Given the description of an element on the screen output the (x, y) to click on. 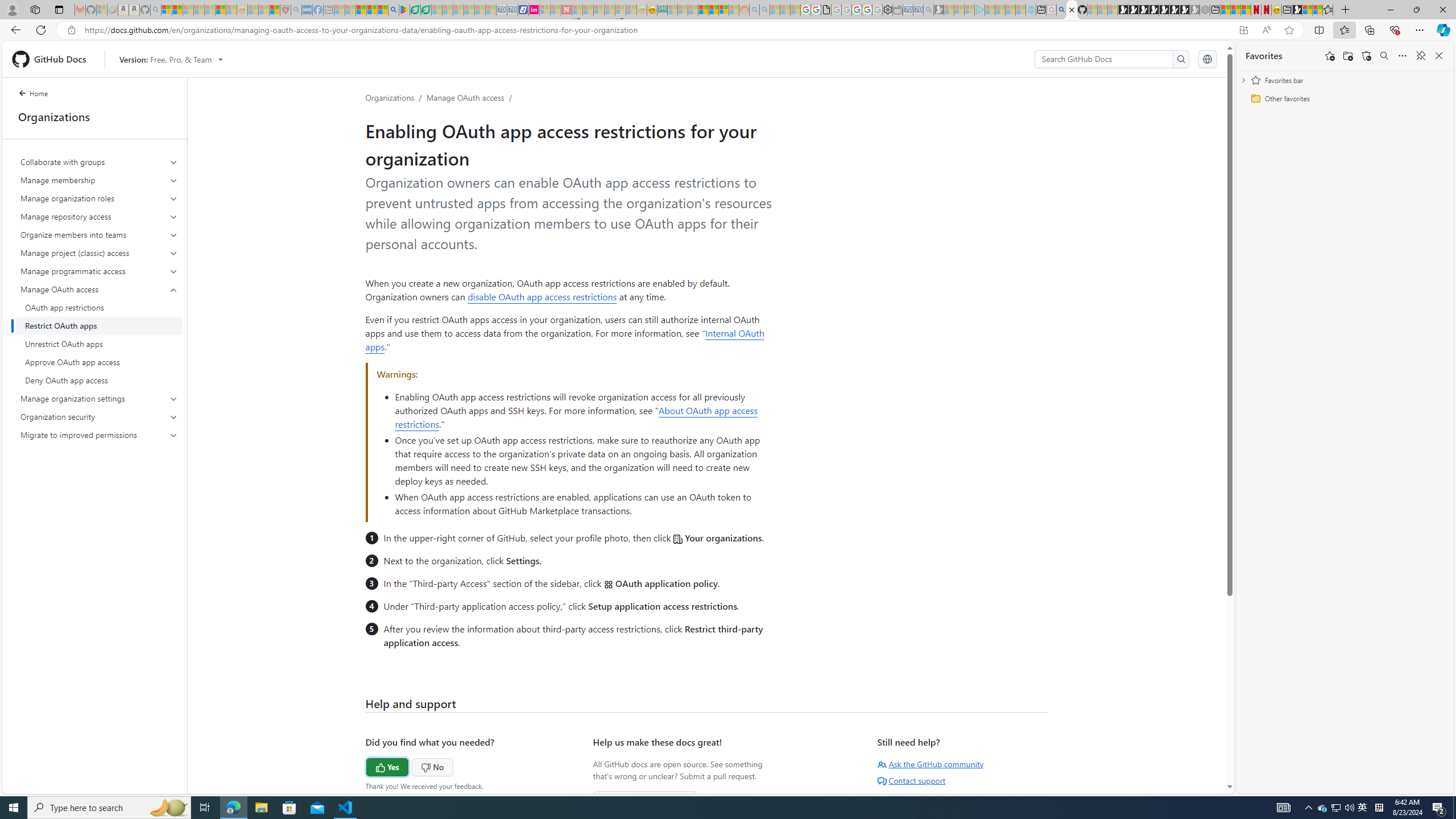
App available. Install GitHub Docs (1243, 29)
Organize members into teams (99, 235)
Pets - MSN (371, 9)
Contact support (911, 780)
